Given the description of an element on the screen output the (x, y) to click on. 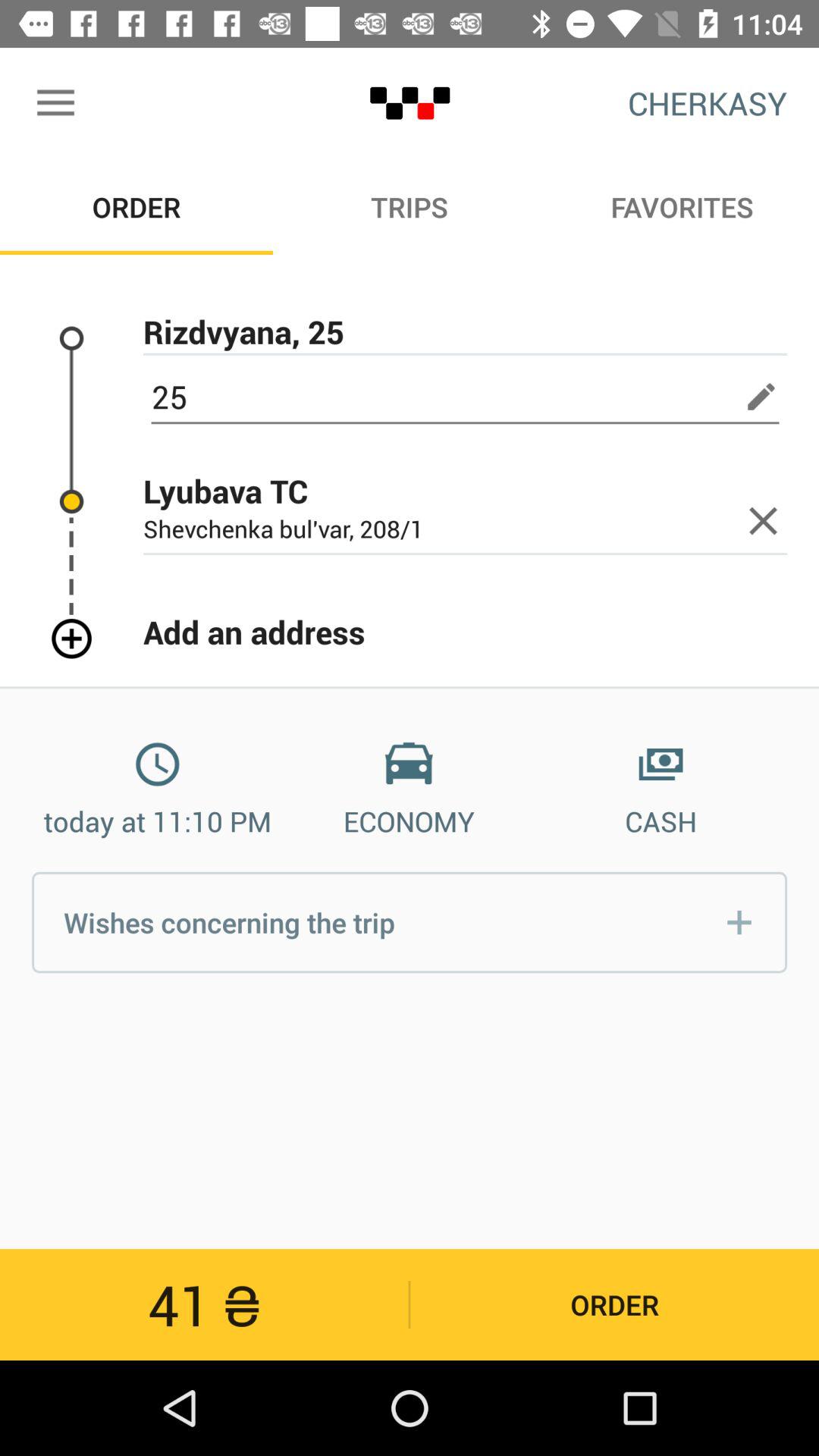
launch icon above order item (55, 103)
